Given the description of an element on the screen output the (x, y) to click on. 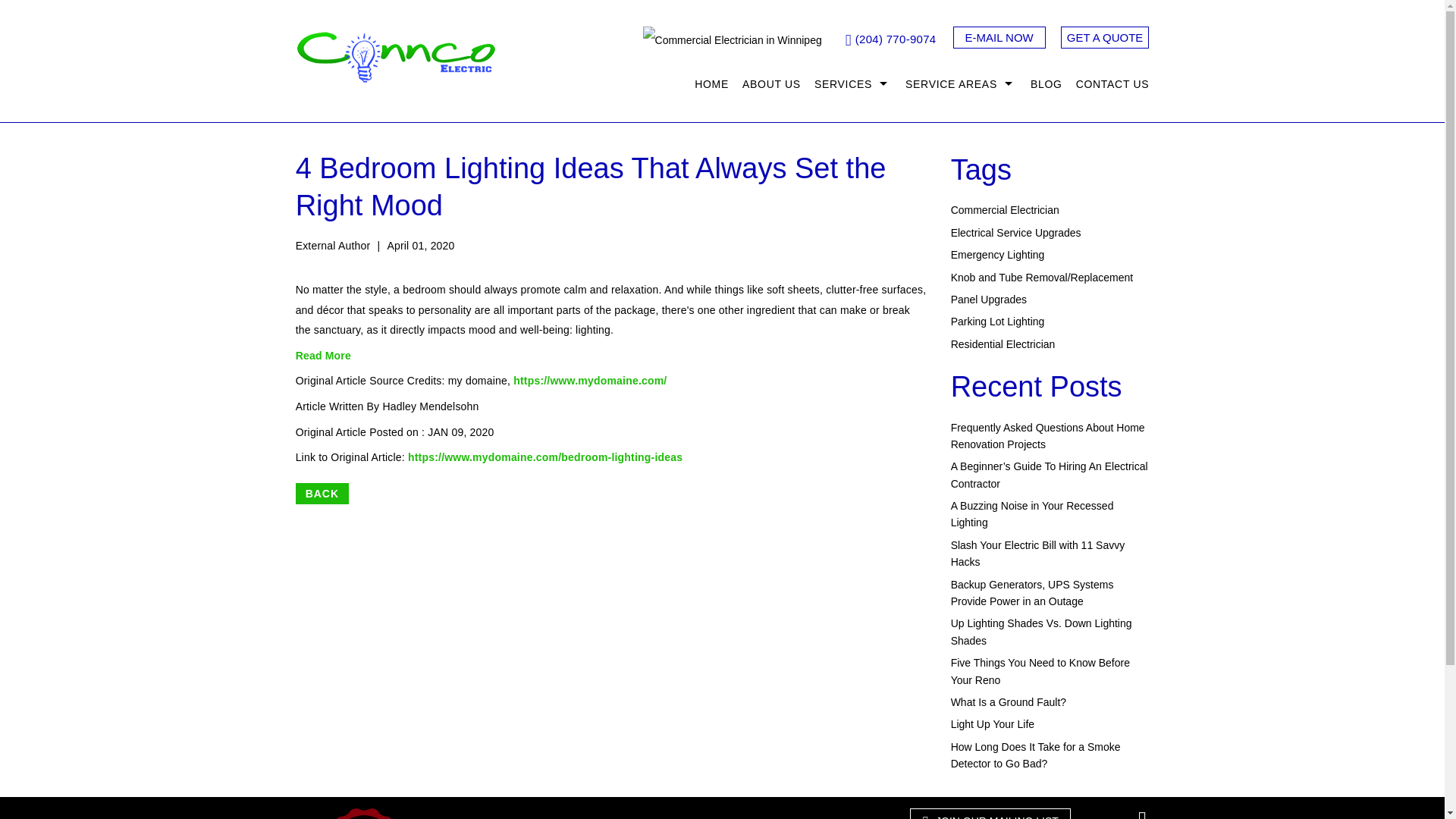
GET A QUOTE (1105, 37)
BLOG (1045, 84)
ABOUT US (771, 84)
SERVICES (853, 84)
HOME (711, 84)
SERVICE AREAS (960, 84)
Read More (322, 355)
E-MAIL NOW (998, 37)
CONTACT US (1109, 84)
